Given the description of an element on the screen output the (x, y) to click on. 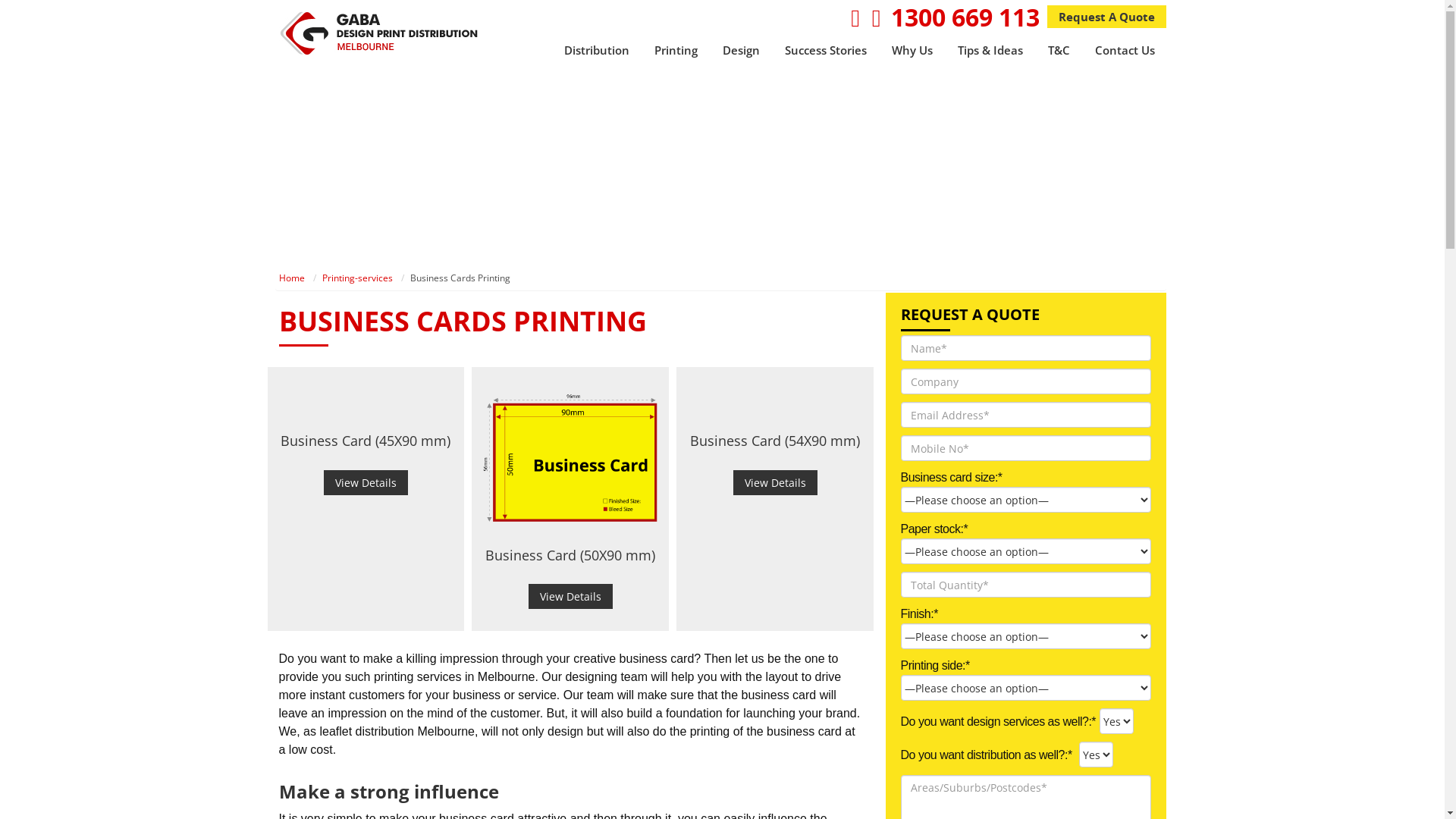
View Details Element type: text (775, 482)
View Details Element type: text (570, 595)
Business Card (54X90 mm) Element type: text (774, 440)
Home Element type: text (291, 277)
Why Us Element type: text (912, 51)
Request A Quote Element type: text (1105, 16)
Contact Us Element type: text (1124, 51)
Business Card (45X90 mm) Element type: text (365, 440)
T&C Element type: text (1058, 51)
Printing-services Element type: text (356, 277)
Printing Element type: text (675, 51)
Tips & Ideas Element type: text (989, 51)
Business Card (50X90 mm) Element type: text (570, 555)
Success Stories Element type: text (824, 51)
Design Element type: text (740, 51)
View Details Element type: text (365, 482)
Distribution Element type: text (596, 51)
1300 669 113 Element type: text (964, 16)
